Given the description of an element on the screen output the (x, y) to click on. 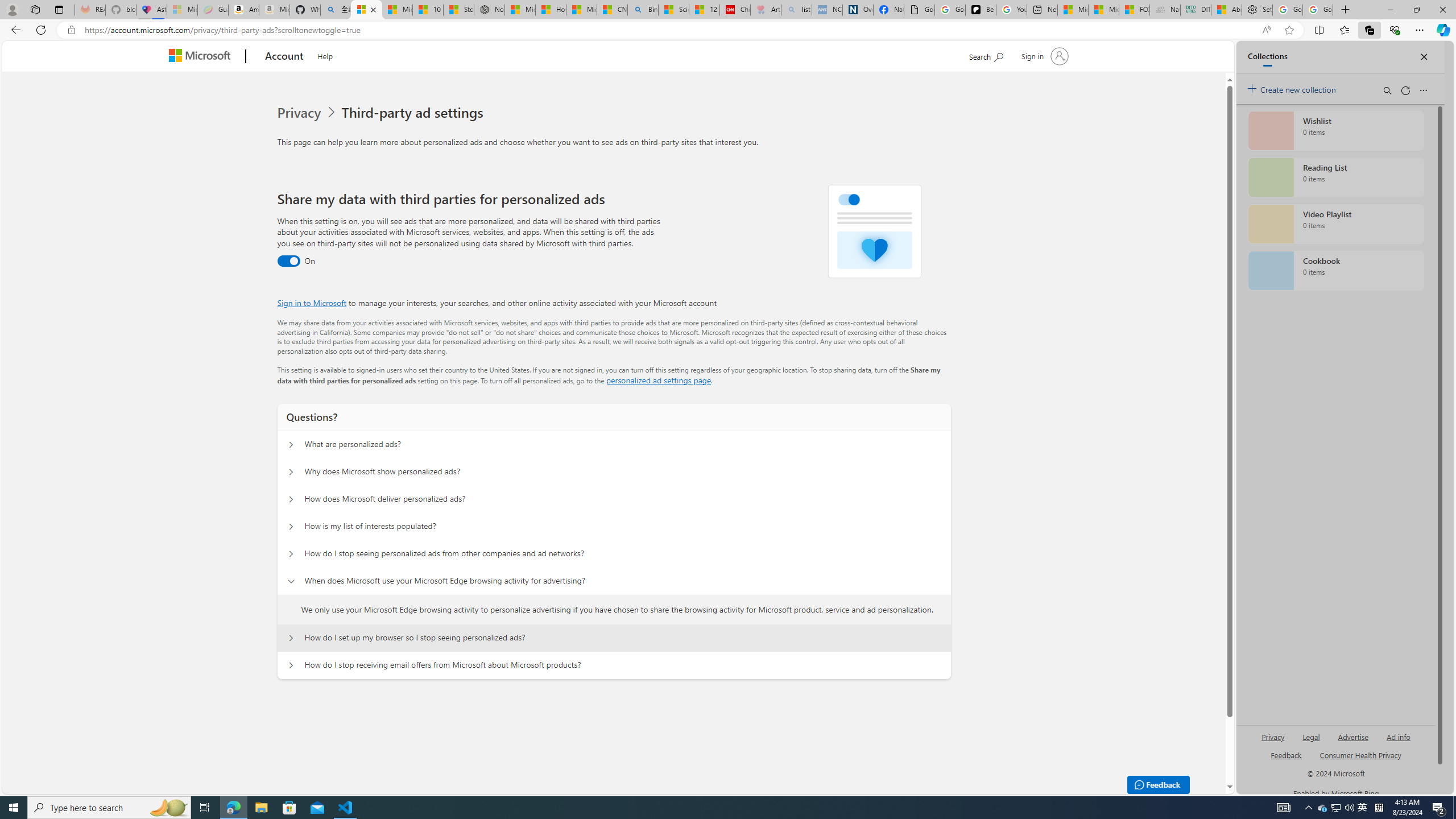
Navy Quest (1164, 9)
Third-party ad settings (414, 112)
Bing (642, 9)
Questions? Why does Microsoft show personalized ads? (290, 472)
Nordace - Nordace Siena Is Not An Ordinary Backpack (488, 9)
Privacy (299, 112)
AutomationID: sb_feedback (1286, 754)
